Given the description of an element on the screen output the (x, y) to click on. 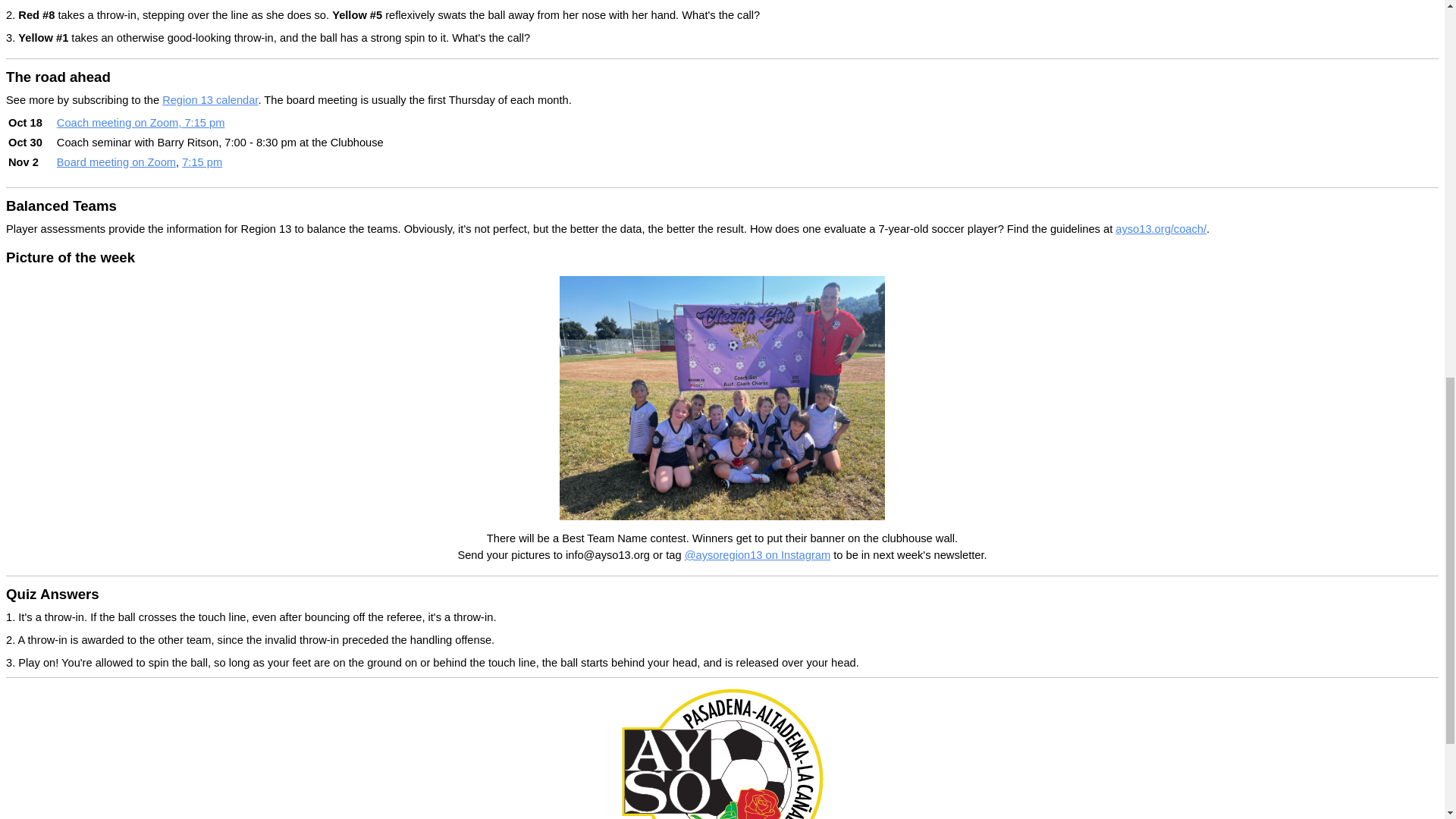
Region 13 calendar (209, 100)
Board meeting on Zoom (116, 162)
Coach meeting on Zoom, 7:15 pm (140, 122)
7:15 pm (202, 162)
